Given the description of an element on the screen output the (x, y) to click on. 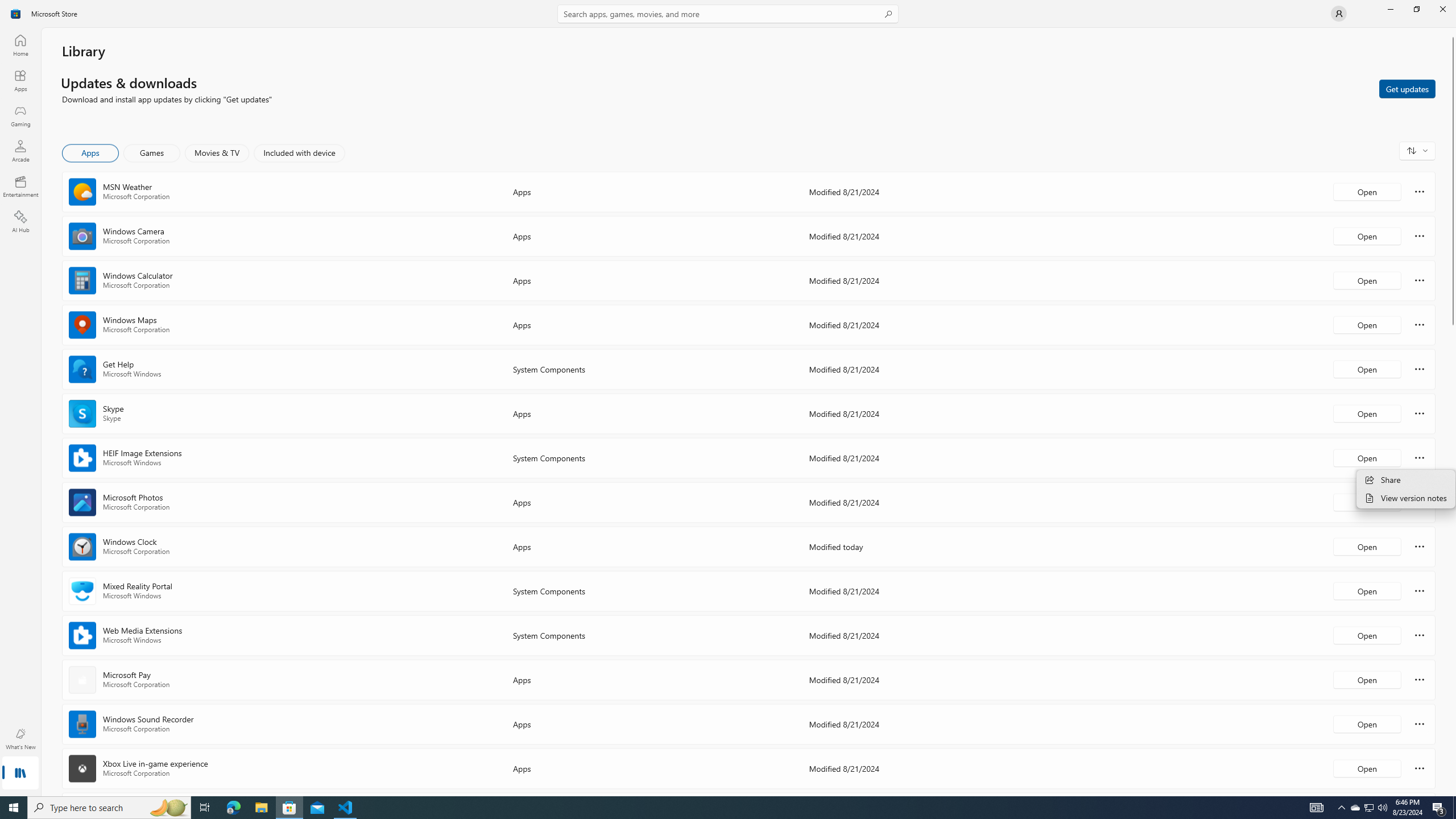
Open (1366, 768)
Vertical (1452, 412)
Vertical Small Increase (1452, 792)
Sort and filter (1417, 149)
